Given the description of an element on the screen output the (x, y) to click on. 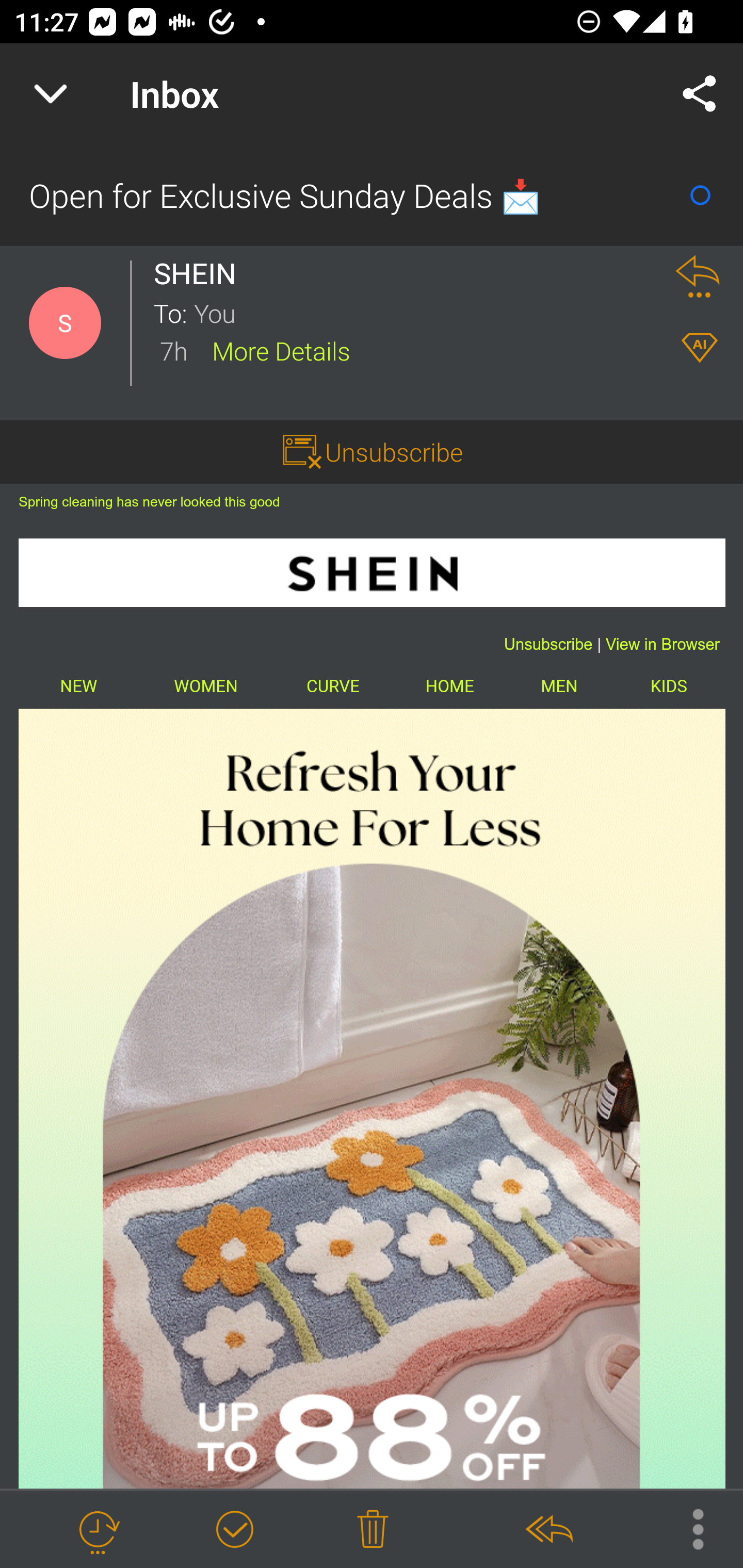
Navigate up (50, 93)
Share (699, 93)
Mark as Read (699, 194)
SHEIN (200, 273)
Contact Details (64, 322)
You (422, 311)
More Details (280, 349)
Unsubscribe (393, 451)
Spring cleaning has never looked this good (149, 501)
SHEIN (371, 572)
Unsubscribe (547, 645)
View in Browser (661, 645)
NEW (78, 686)
WOMEN (205, 686)
CURVE (332, 686)
HOME (449, 686)
MEN (558, 686)
KIDS (669, 686)
REFRESH YOUR HOME FOR LESS (371, 1098)
Snooze (97, 1529)
Mark as Done (234, 1529)
Delete (372, 1529)
Reply All (548, 1529)
